Given the description of an element on the screen output the (x, y) to click on. 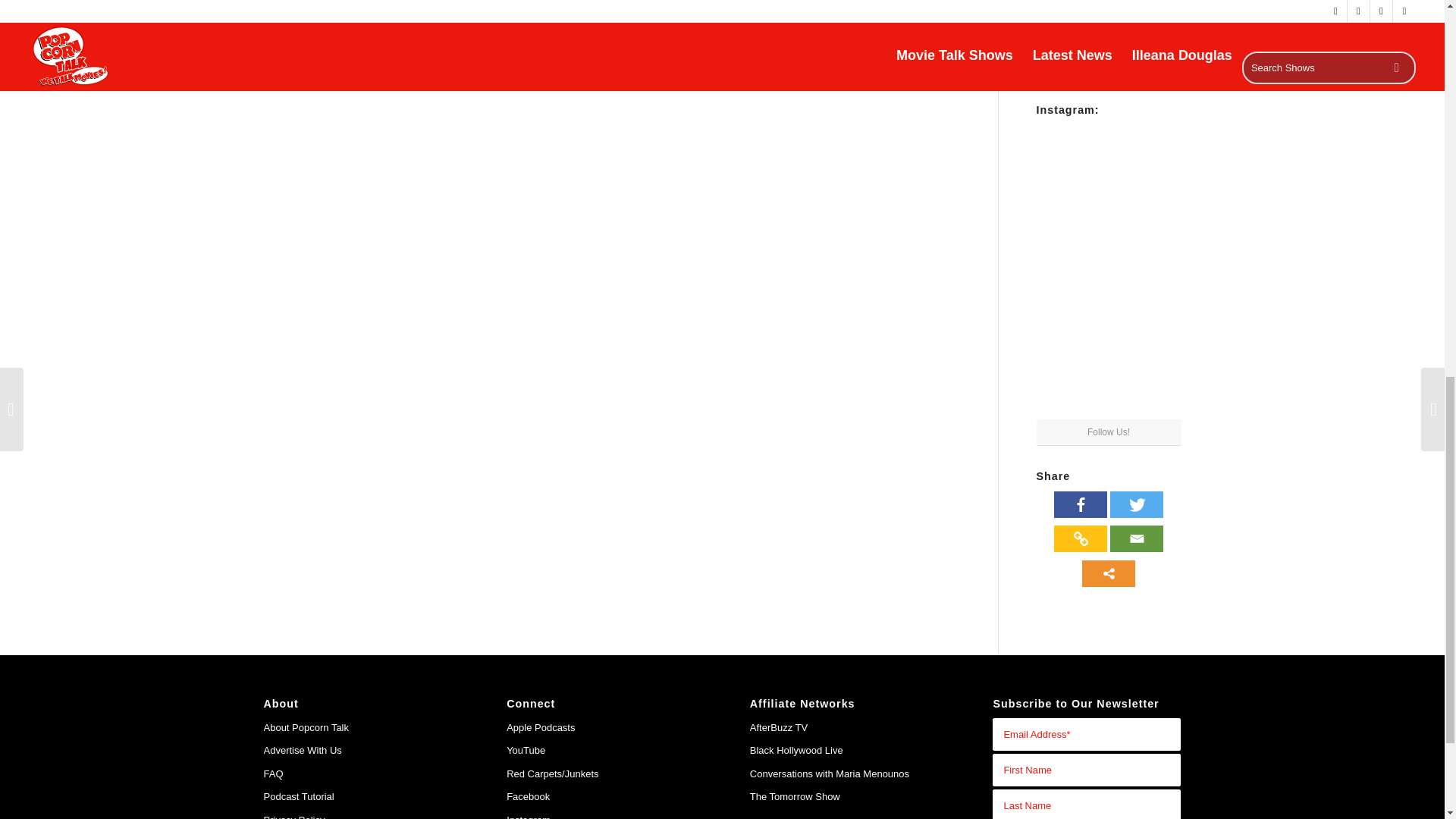
Follow Us! (1107, 432)
